Given the description of an element on the screen output the (x, y) to click on. 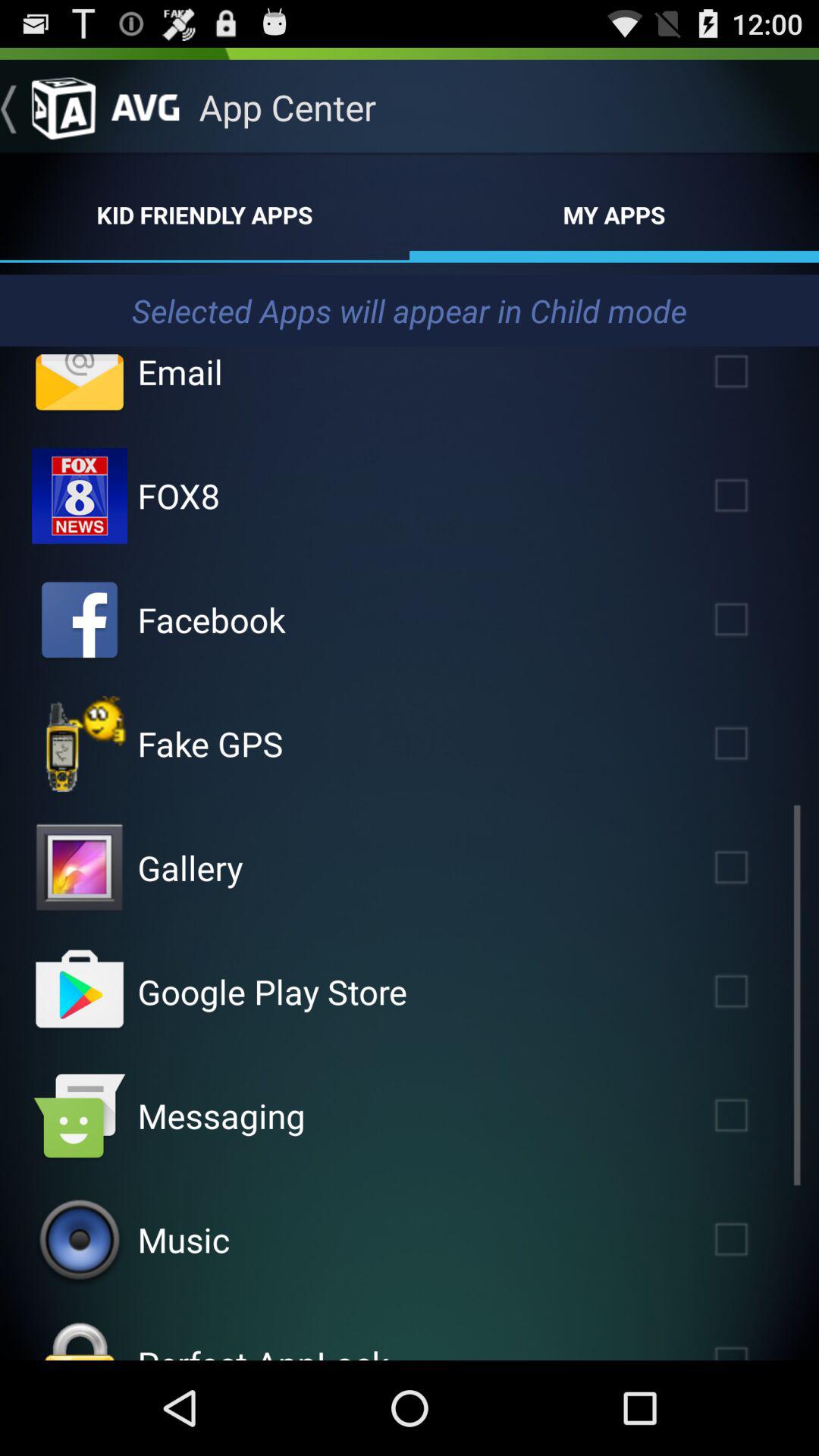
tap app above google play store item (189, 867)
